Given the description of an element on the screen output the (x, y) to click on. 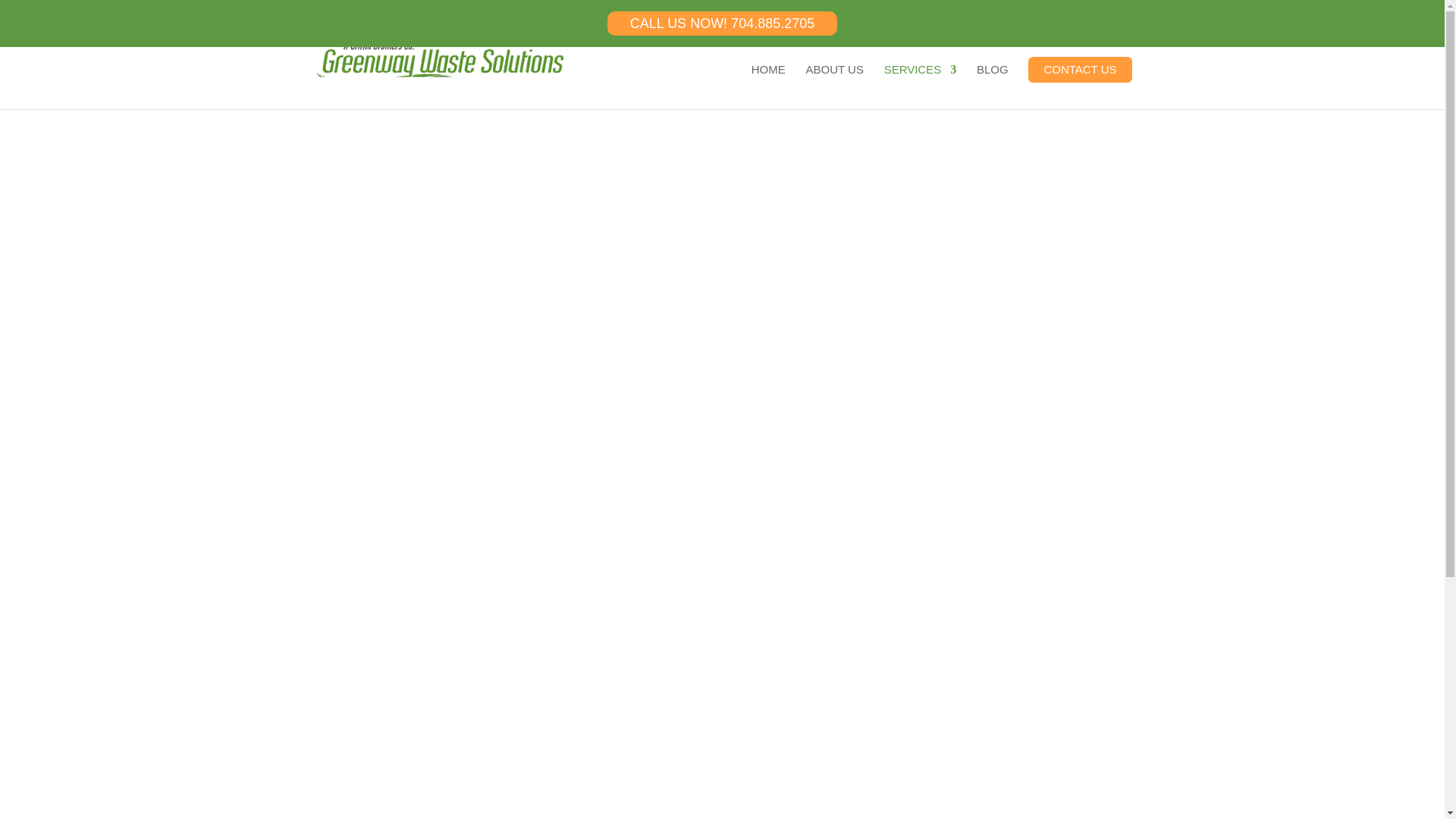
ABOUT US (834, 86)
CONTACT US (1079, 69)
CALL US NOW! 704.885.2705 (722, 23)
call our professional staff today (690, 673)
SERVICES (919, 86)
